Given the description of an element on the screen output the (x, y) to click on. 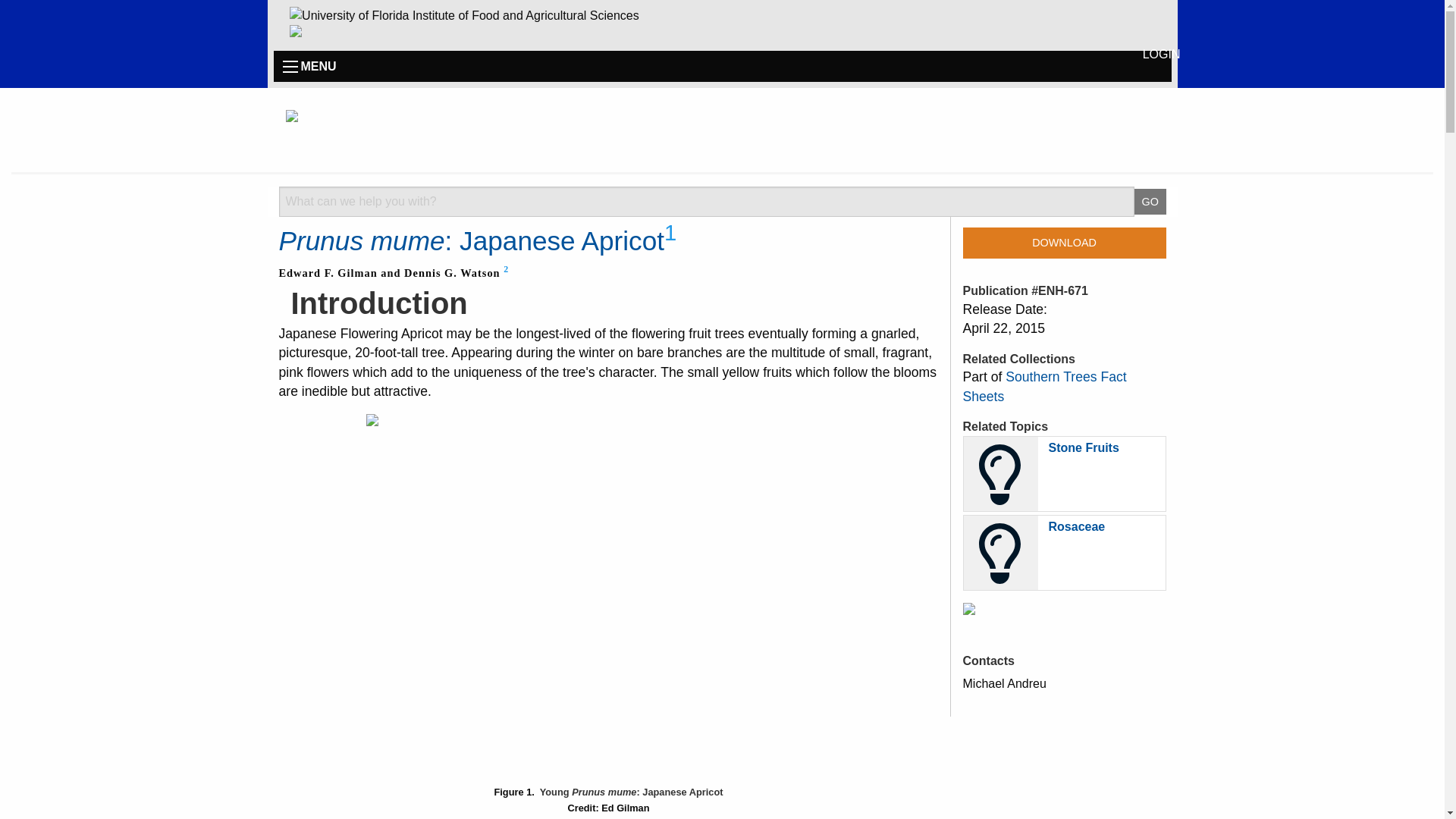
Rosaceae (1076, 526)
GO (1150, 201)
DOWNLOAD (1064, 242)
Download (1064, 242)
Southern Trees Fact Sheets (1044, 386)
LOGIN (1161, 53)
AskIFAS Powered by EDIS (721, 129)
Stone Fruits (1083, 447)
AskIFAS Powered by EDIS (353, 132)
Rosaceae (1076, 526)
